Given the description of an element on the screen output the (x, y) to click on. 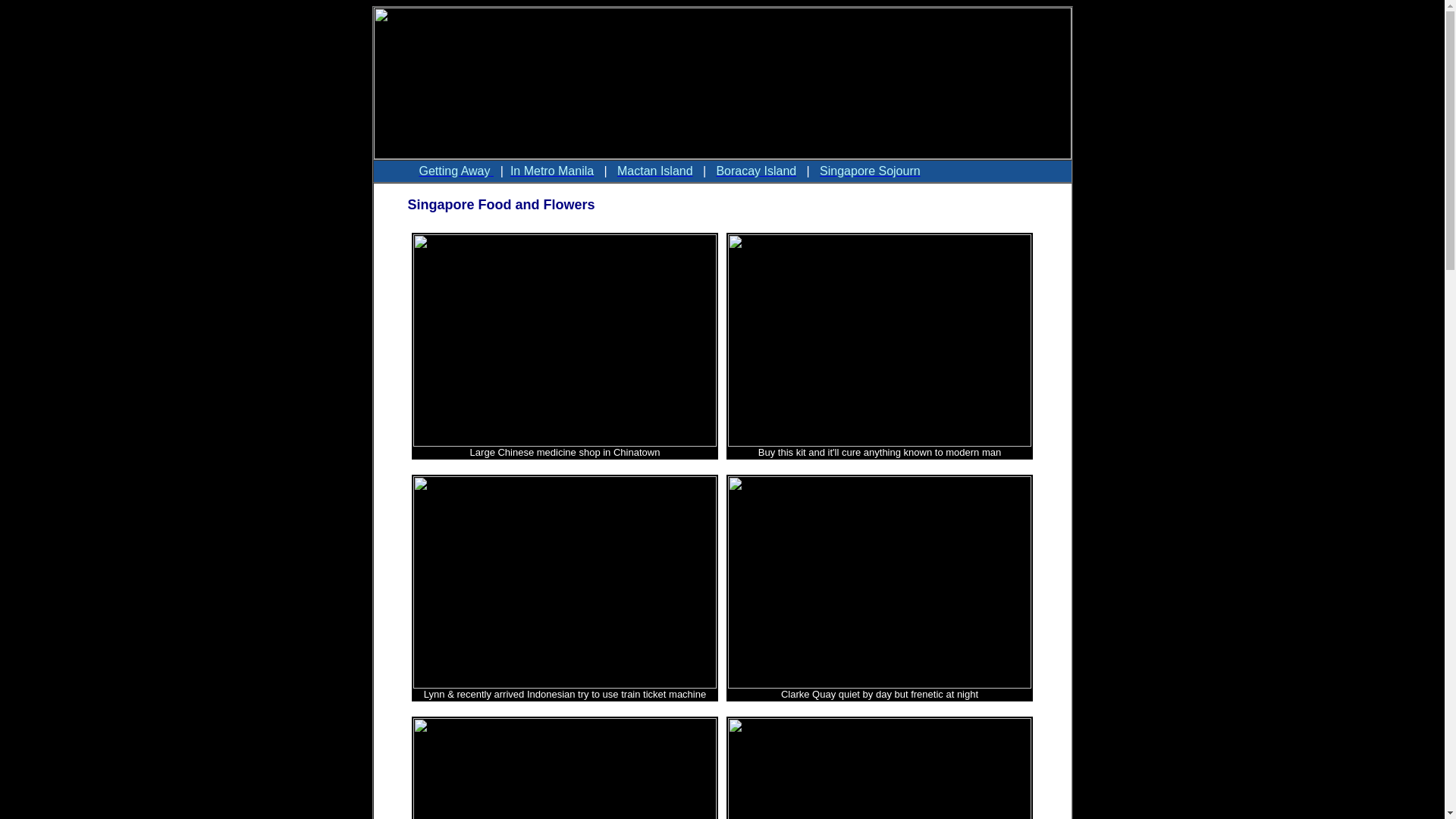
In Metro Manila Element type: text (551, 170)
Singapore Sojourn Element type: text (869, 170)
Boracay Island Element type: text (755, 170)
Mactan Island Element type: text (655, 170)
Getting Away  Element type: text (455, 170)
